Given the description of an element on the screen output the (x, y) to click on. 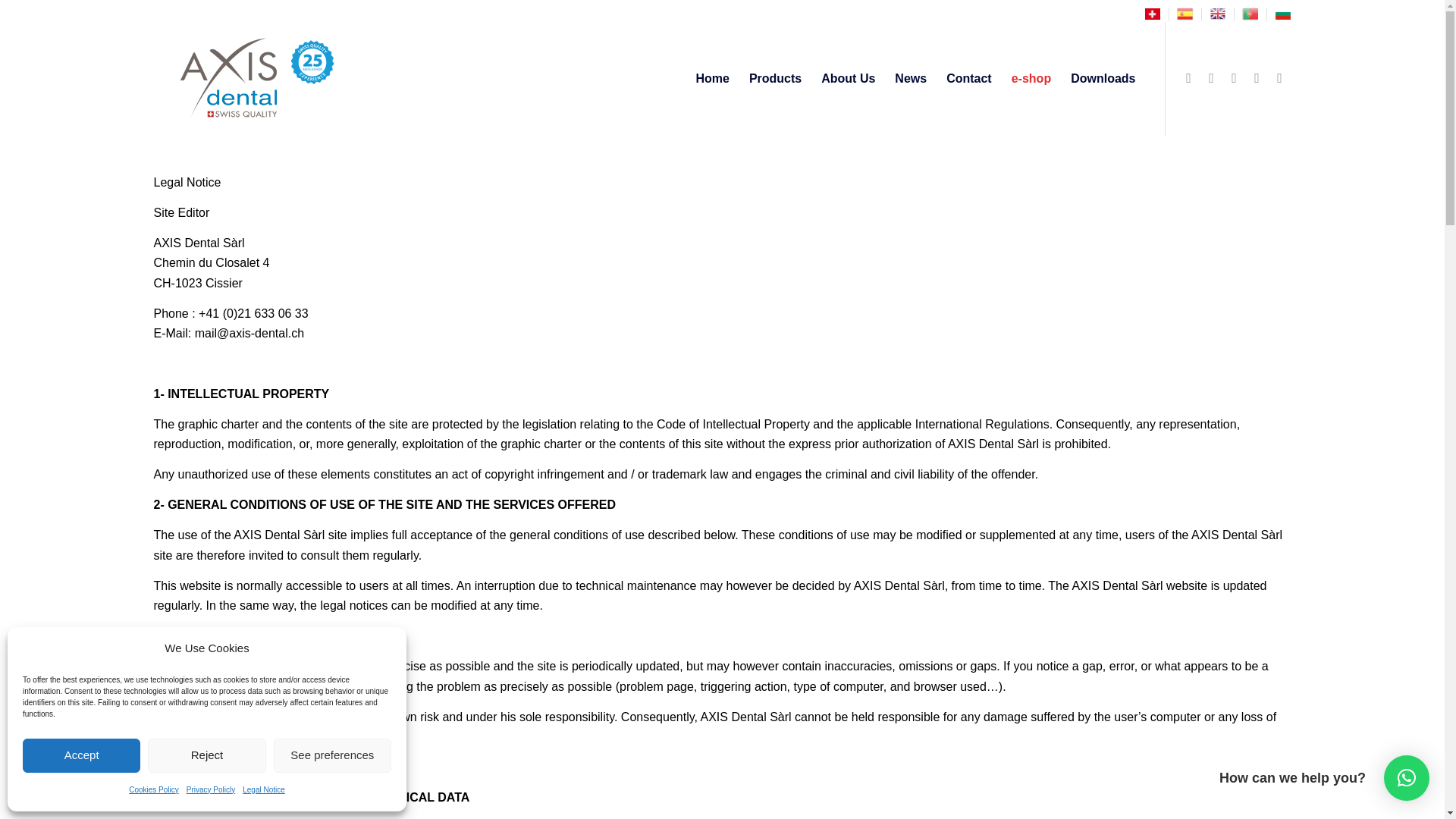
Facebook (1187, 77)
Privacy Policly (210, 790)
Youtube (1279, 77)
See preferences (332, 755)
Accept (81, 755)
Twitter (1211, 77)
Cookies Policy (154, 790)
logo-axis-garantia-mas-de-25-anos (252, 78)
LinkedIn (1233, 77)
Instagram (1256, 77)
